Given the description of an element on the screen output the (x, y) to click on. 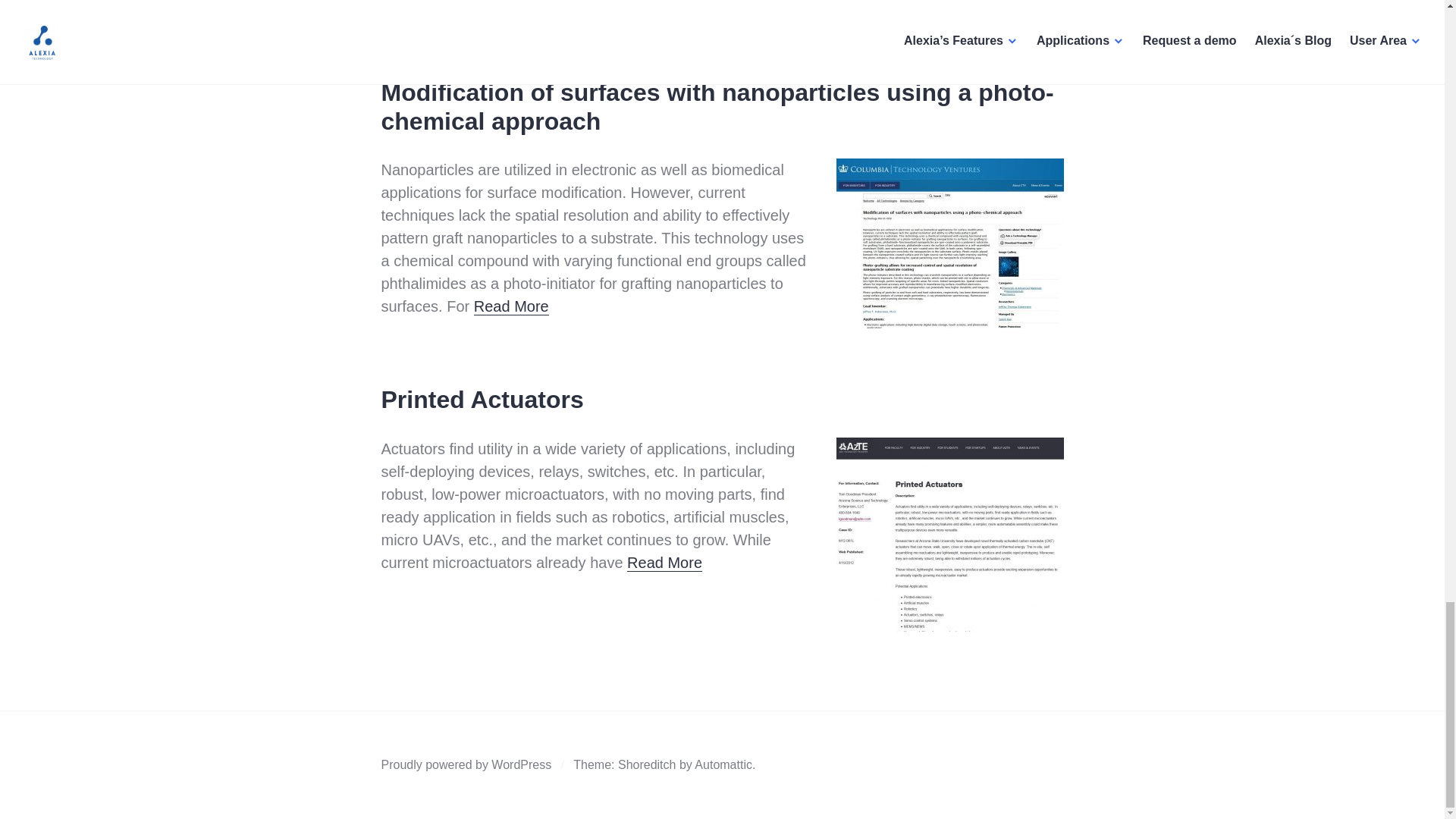
Automattic (723, 764)
Read More (664, 562)
Proudly powered by WordPress (465, 764)
Go to top (1038, 4)
Read More (511, 306)
